Given the description of an element on the screen output the (x, y) to click on. 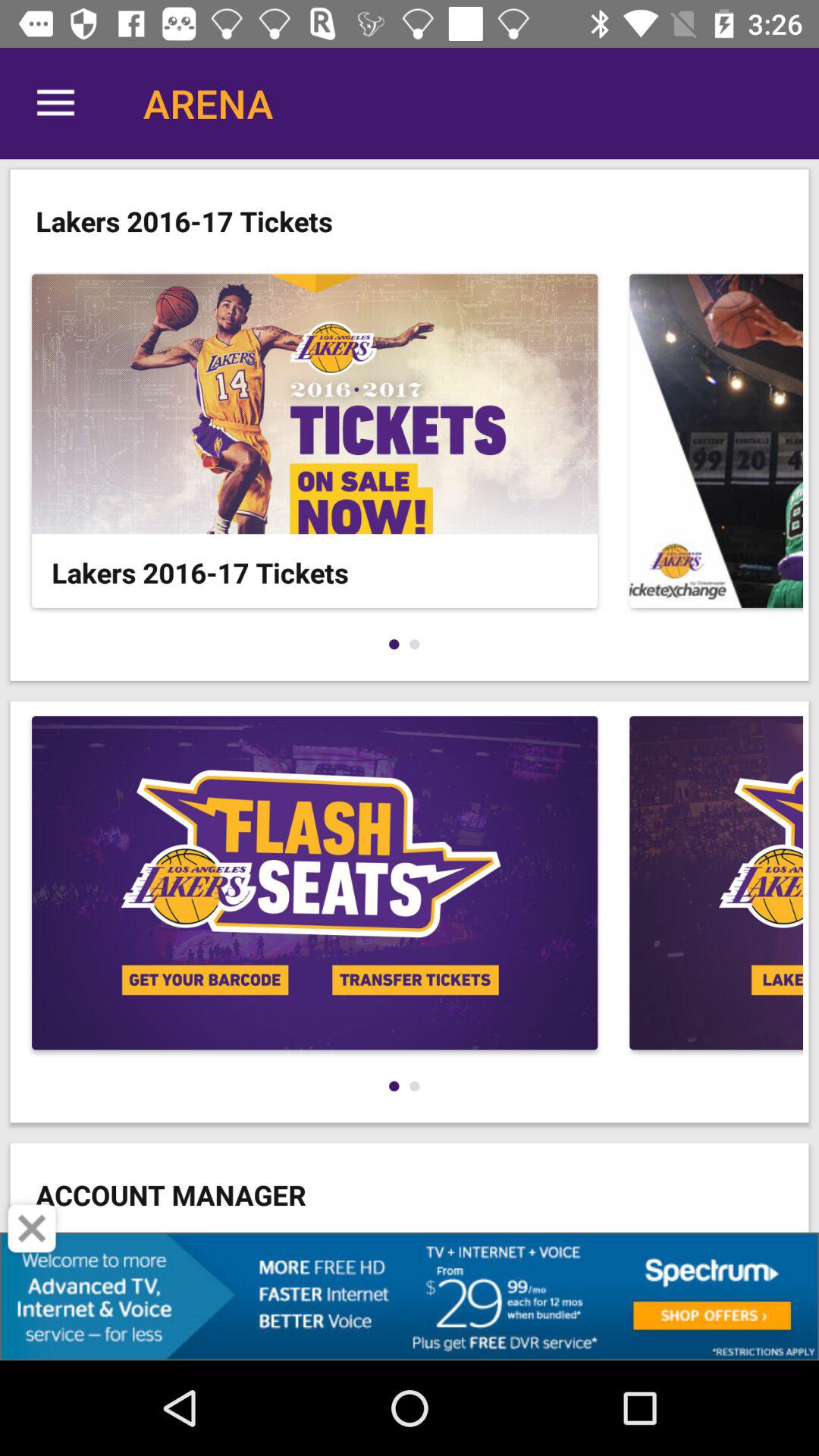
press the icon above lakers 2016 17 icon (55, 103)
